Given the description of an element on the screen output the (x, y) to click on. 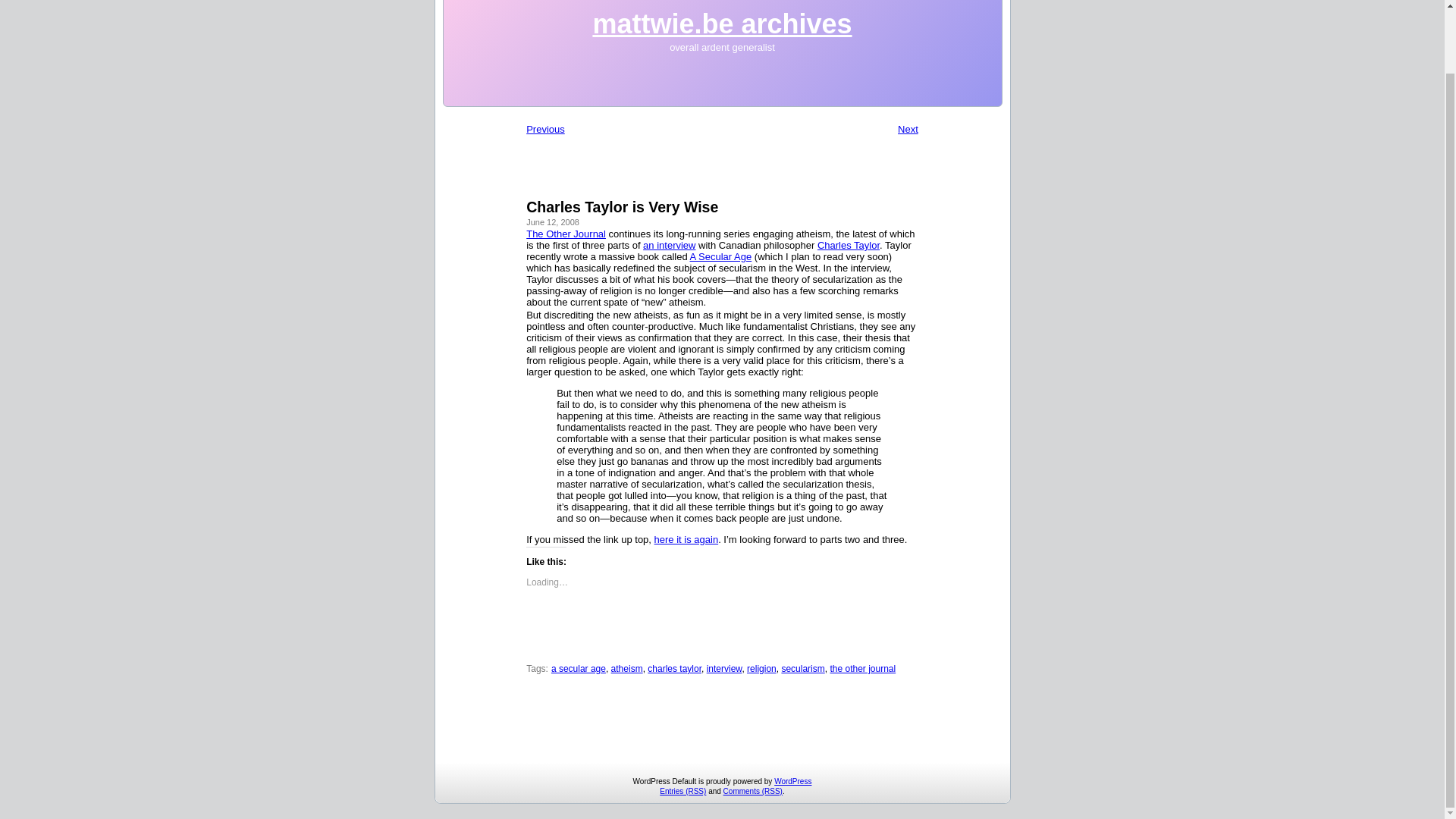
secularism (802, 668)
Charles Taylor on Wikipedia (847, 244)
charles taylor (674, 668)
A Secular Age (721, 256)
Next (908, 129)
mattwie.be archives (721, 23)
Previous (544, 129)
atheism (627, 668)
The Other Journal (565, 233)
The Other Journal (565, 233)
